Given the description of an element on the screen output the (x, y) to click on. 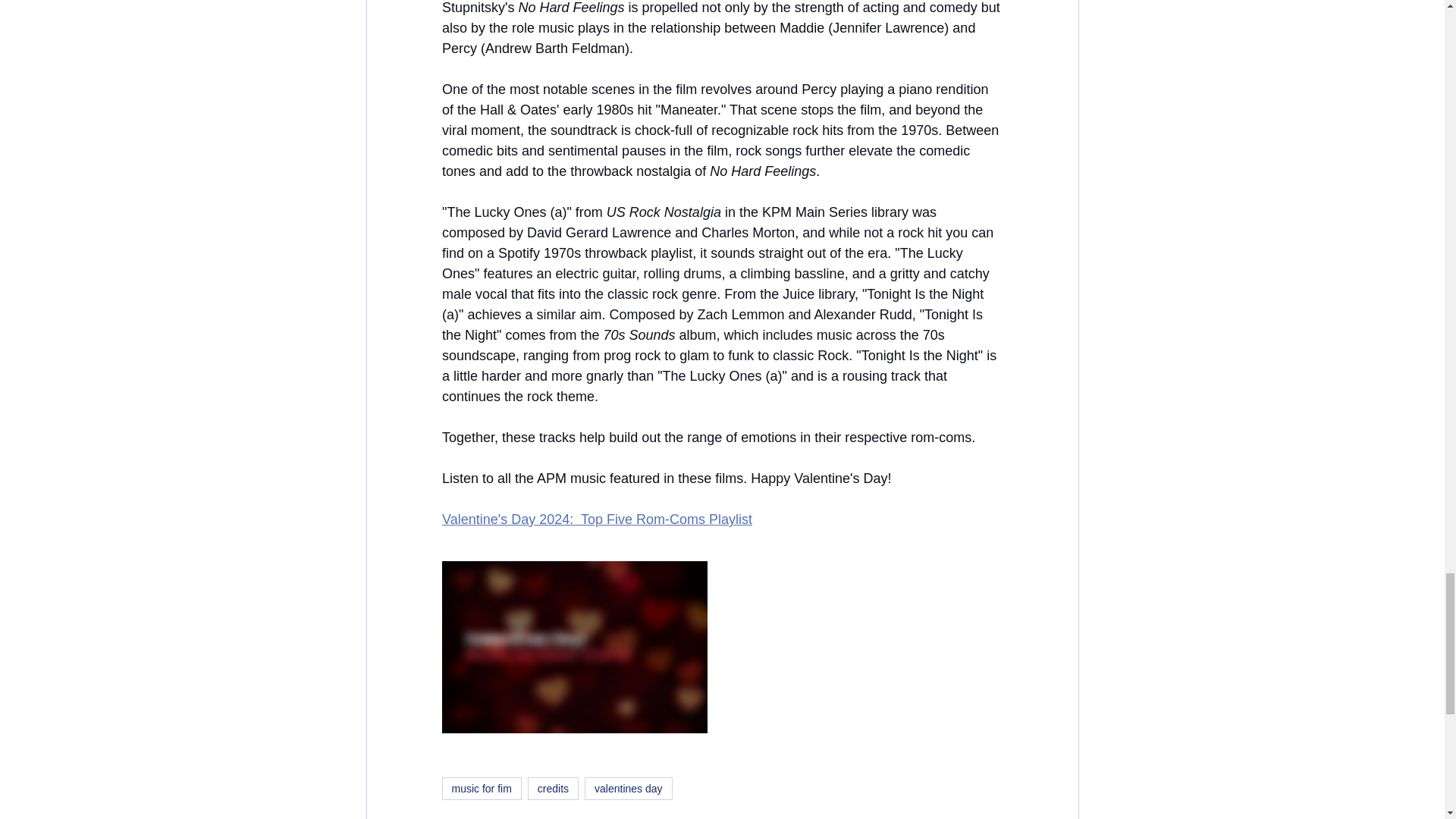
credits (552, 788)
valentines day (628, 788)
Valentine's Day 2024:  Top Five Rom-Coms Playlist (596, 519)
music for fim (481, 788)
